Given the description of an element on the screen output the (x, y) to click on. 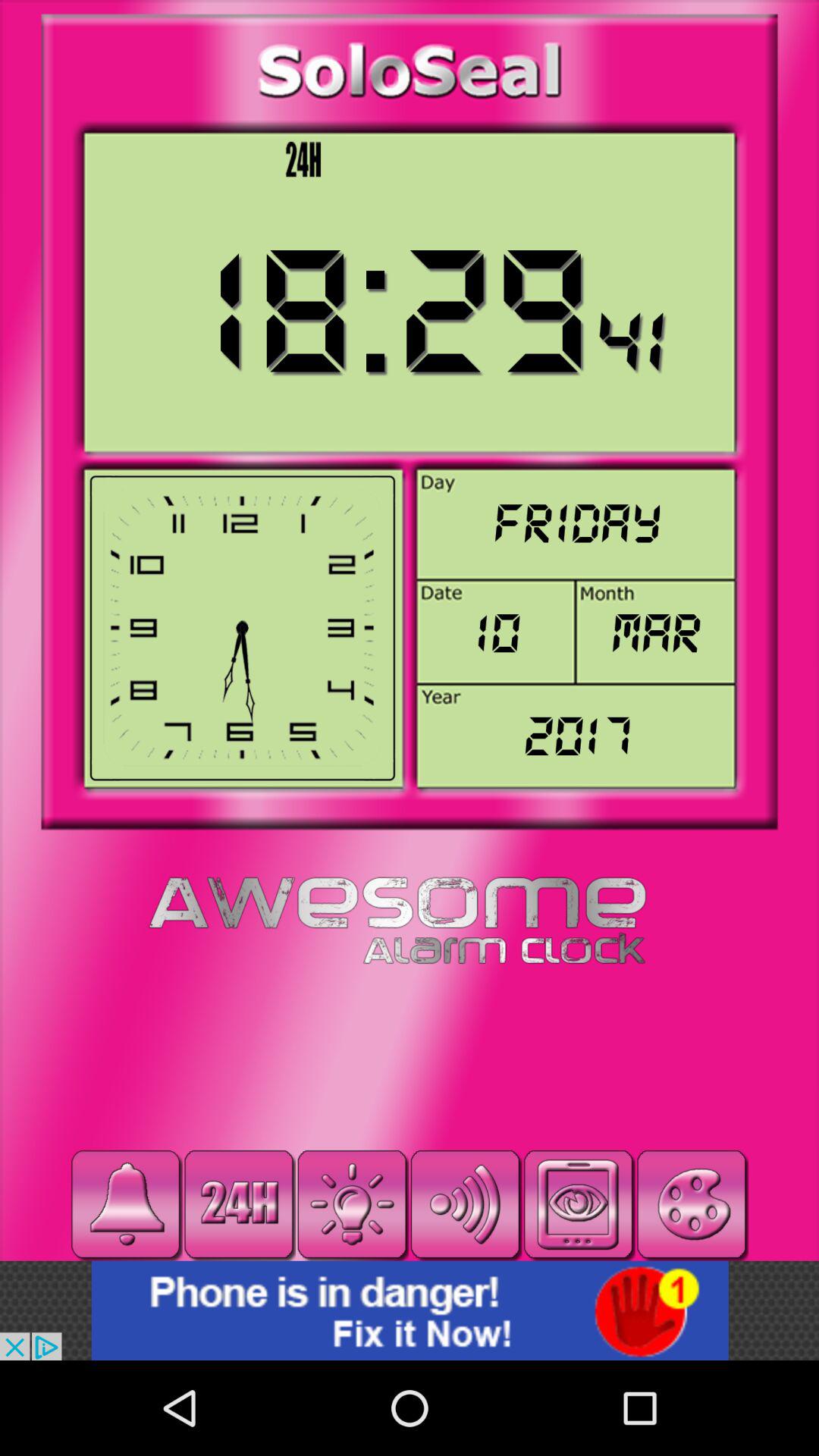
toggle brightness option (351, 1203)
